Given the description of an element on the screen output the (x, y) to click on. 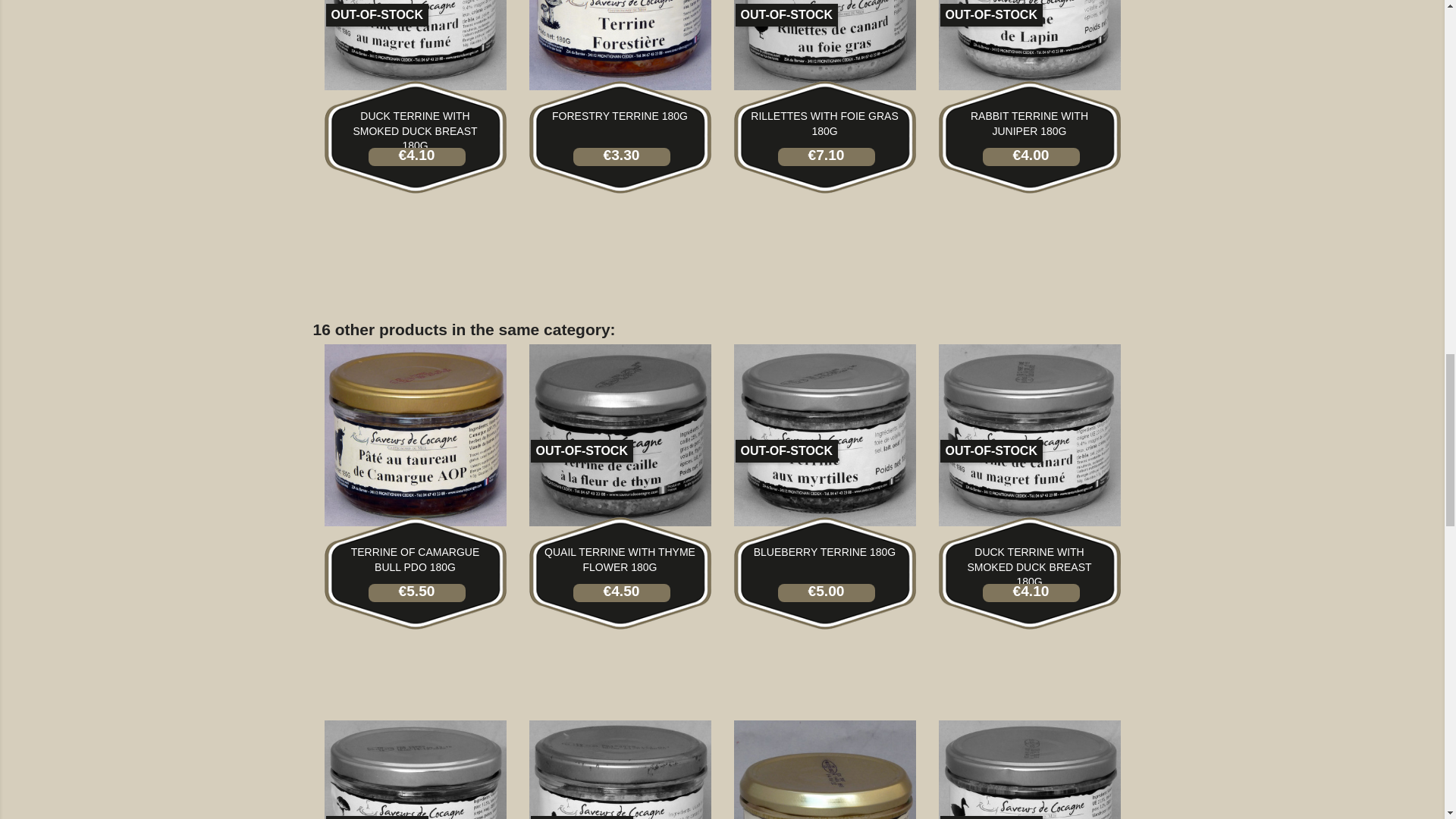
RABBIT TERRINE WITH JUNIPER 180G (1029, 123)
RILLETTES WITH FOIE GRAS 180G (824, 123)
FORESTRY TERRINE 180G (619, 115)
DUCK TERRINE WITH SMOKED DUCK BREAST 180G (414, 130)
